Given the description of an element on the screen output the (x, y) to click on. 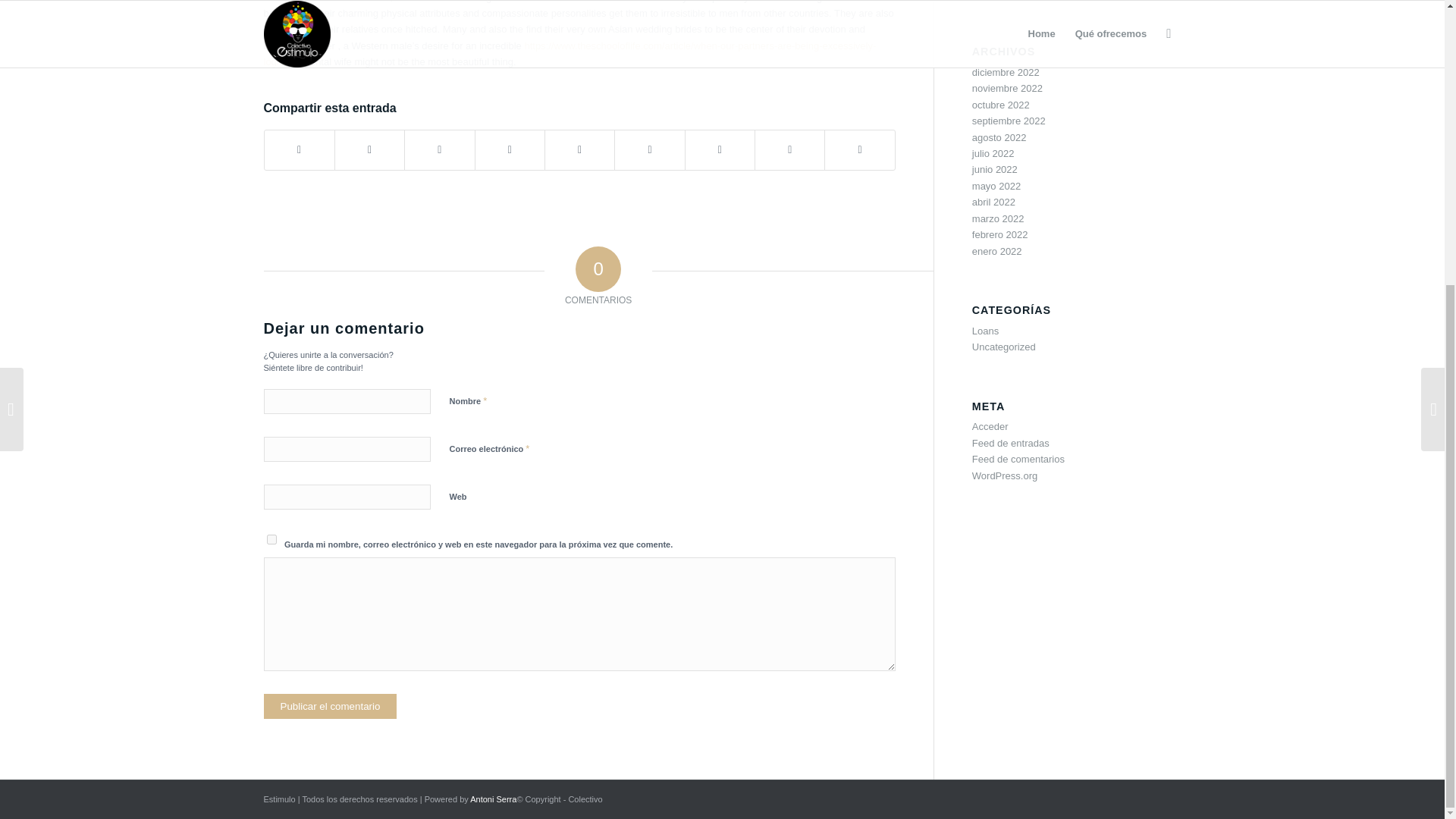
septiembre 2022 (1008, 120)
Publicar el comentario (330, 706)
noviembre 2022 (1007, 88)
Publicar el comentario (330, 706)
octubre 2022 (1000, 104)
yes (271, 539)
diciembre 2022 (1005, 71)
